Given the description of an element on the screen output the (x, y) to click on. 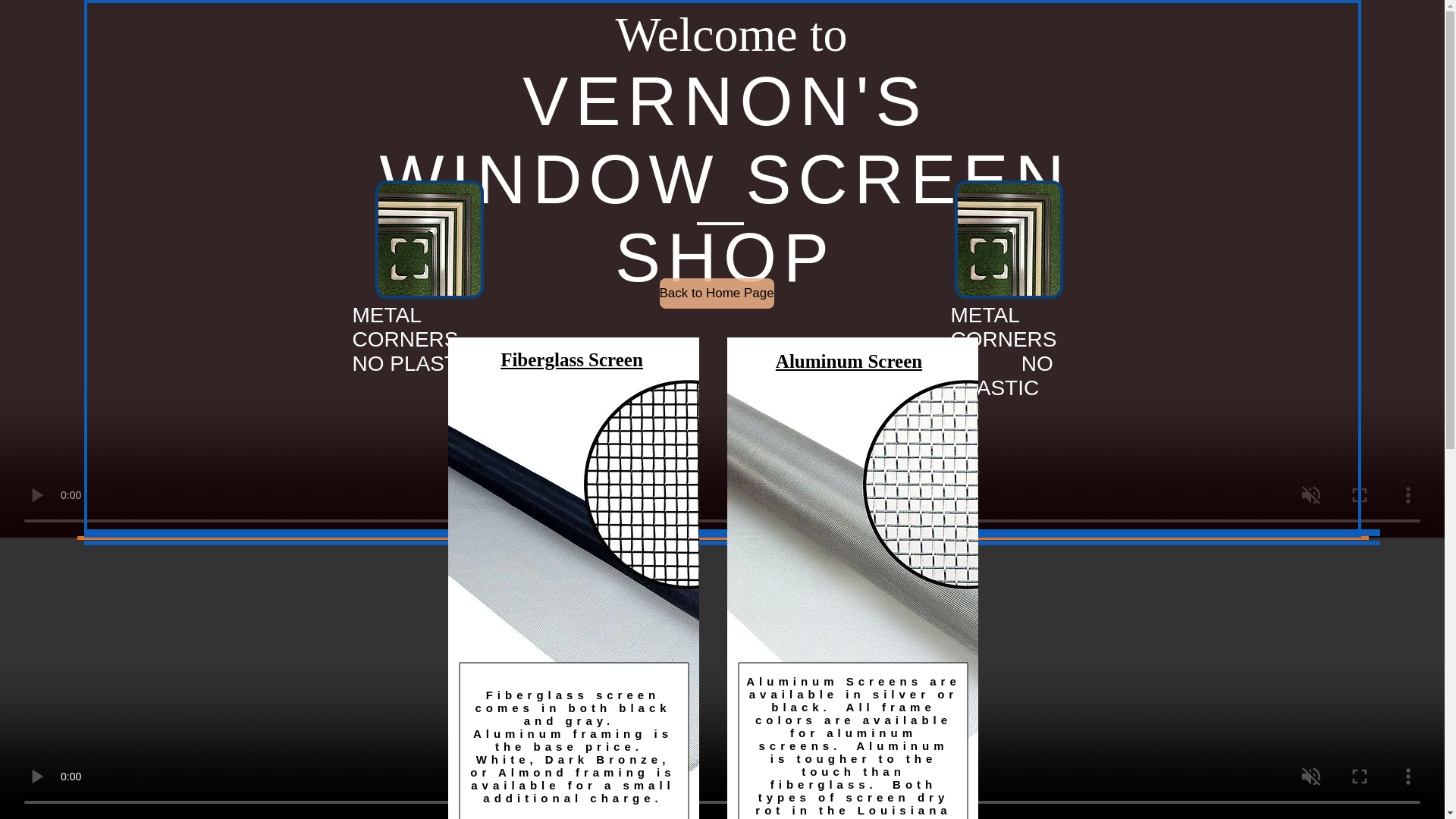
Aluminum Screen (848, 360)
Fiberglass Screen (571, 359)
Back to Home Page (716, 293)
